Given the description of an element on the screen output the (x, y) to click on. 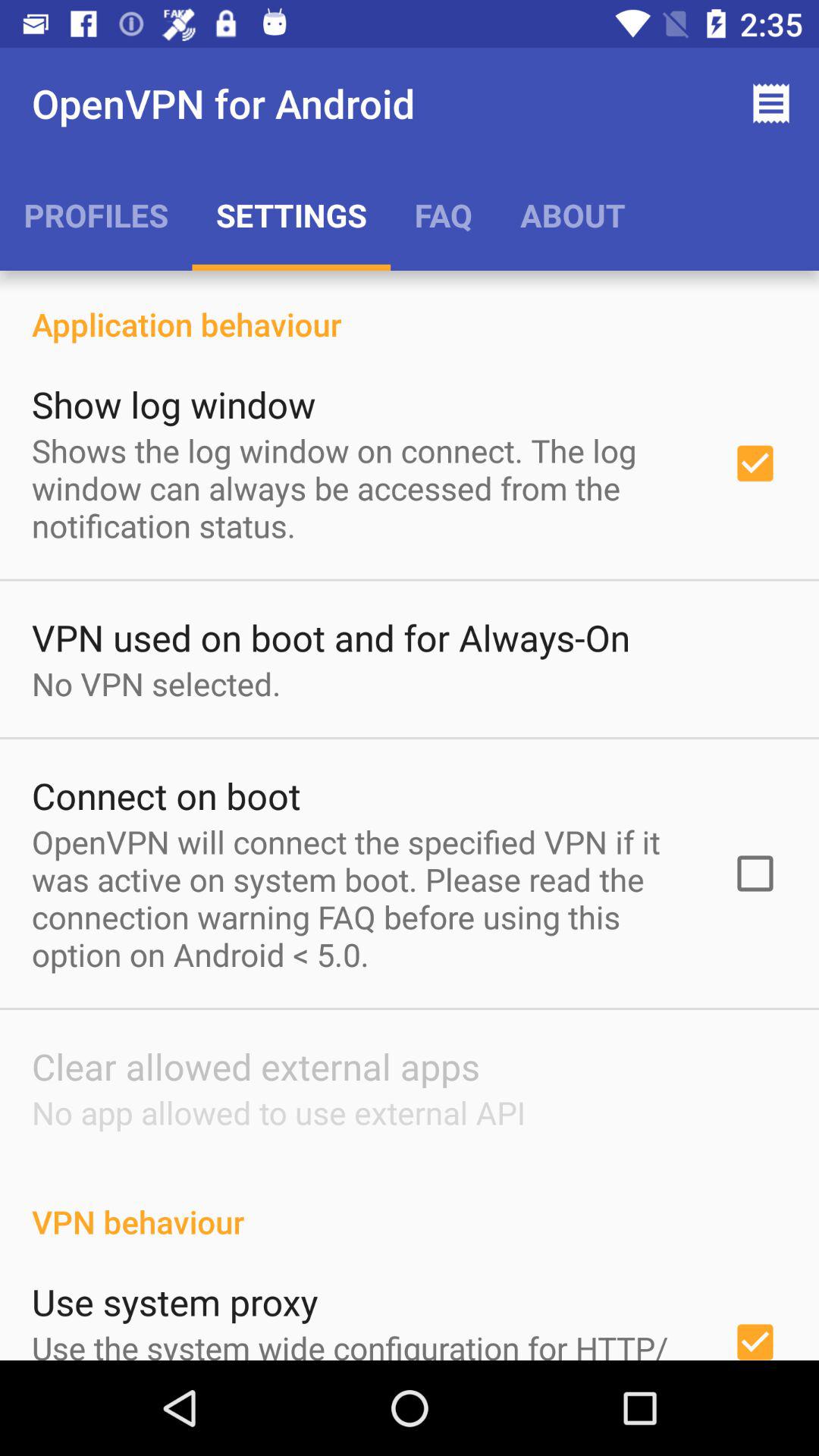
launch item above use system proxy (409, 1205)
